Given the description of an element on the screen output the (x, y) to click on. 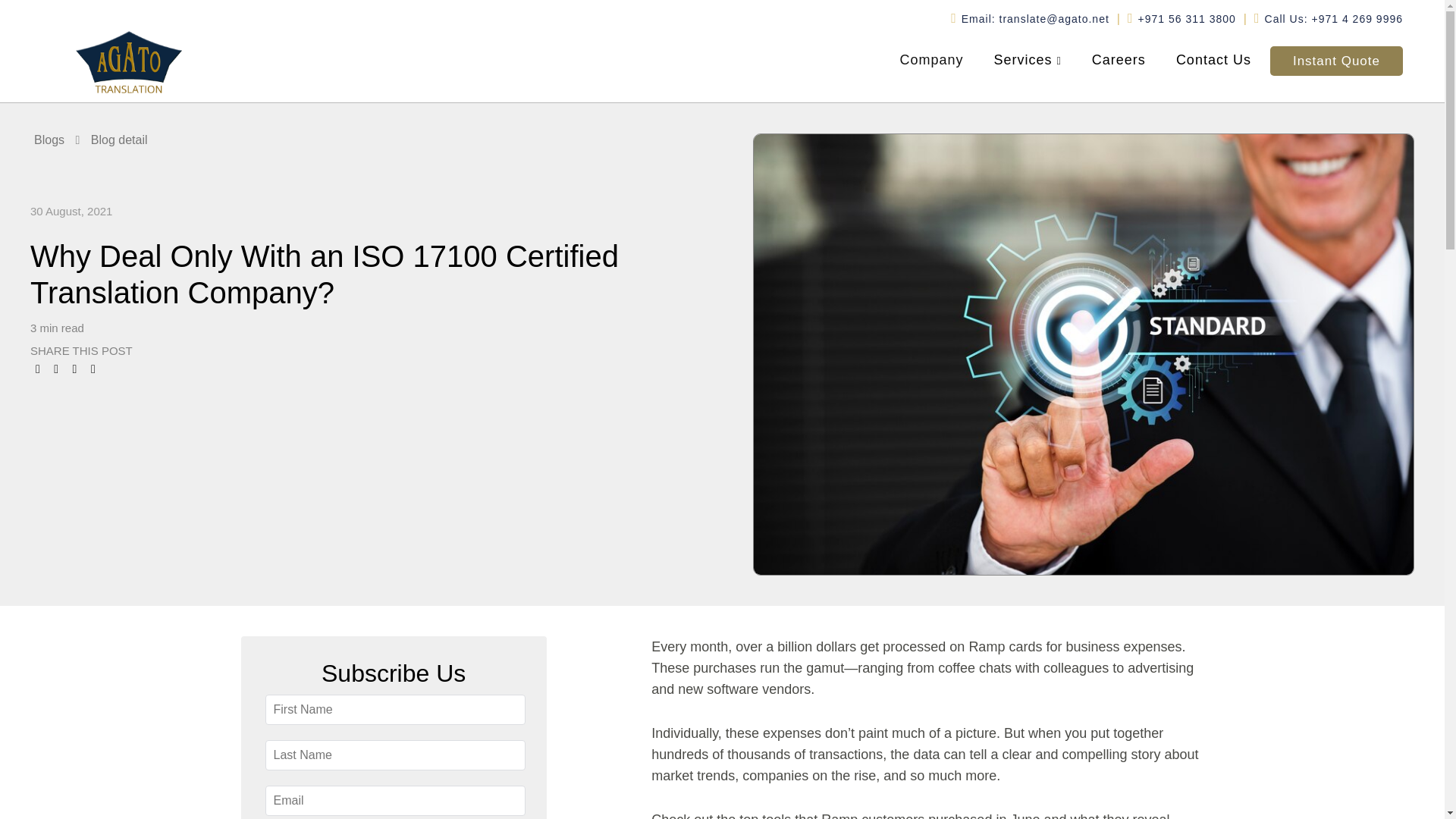
Company (931, 61)
Blogs (48, 139)
Instant Quote (1336, 60)
Services (1027, 61)
Contact Us (1213, 61)
Careers (1118, 61)
Blog detail (119, 139)
